Given the description of an element on the screen output the (x, y) to click on. 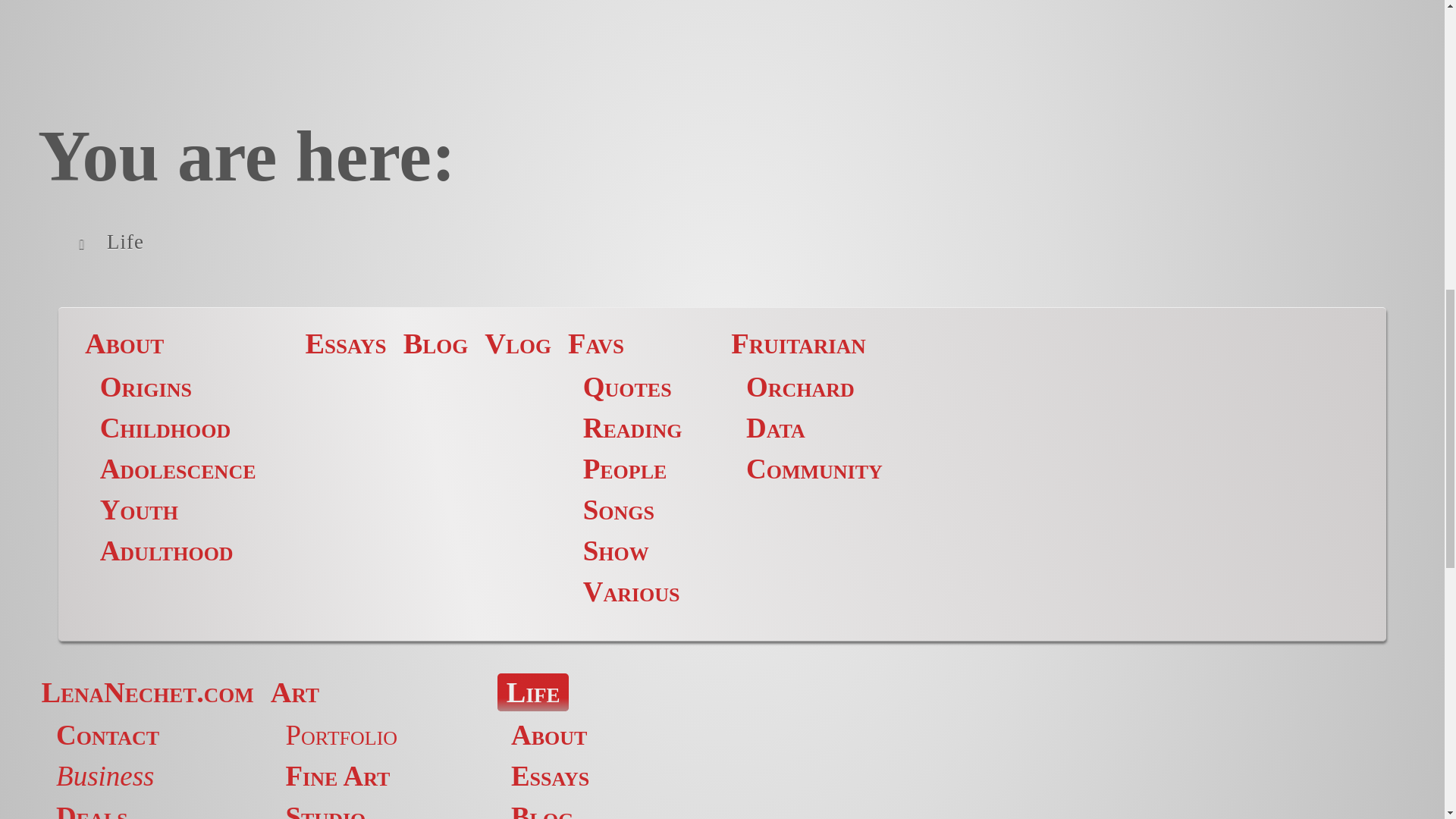
Fruitarian (797, 343)
Adulthood (166, 550)
Personal lifestyle web log (435, 343)
Orchard (799, 386)
Essays (344, 343)
Products and Services (92, 810)
Portfolio (341, 735)
Business Terms and Policies (105, 775)
Fine Art (337, 775)
People (624, 468)
Essays (550, 775)
Personal Video Log (517, 343)
Lists and playlists of movies and shows (616, 550)
Favs (595, 343)
Fine art, film, photography - art by Lena Nechet (294, 692)
